Given the description of an element on the screen output the (x, y) to click on. 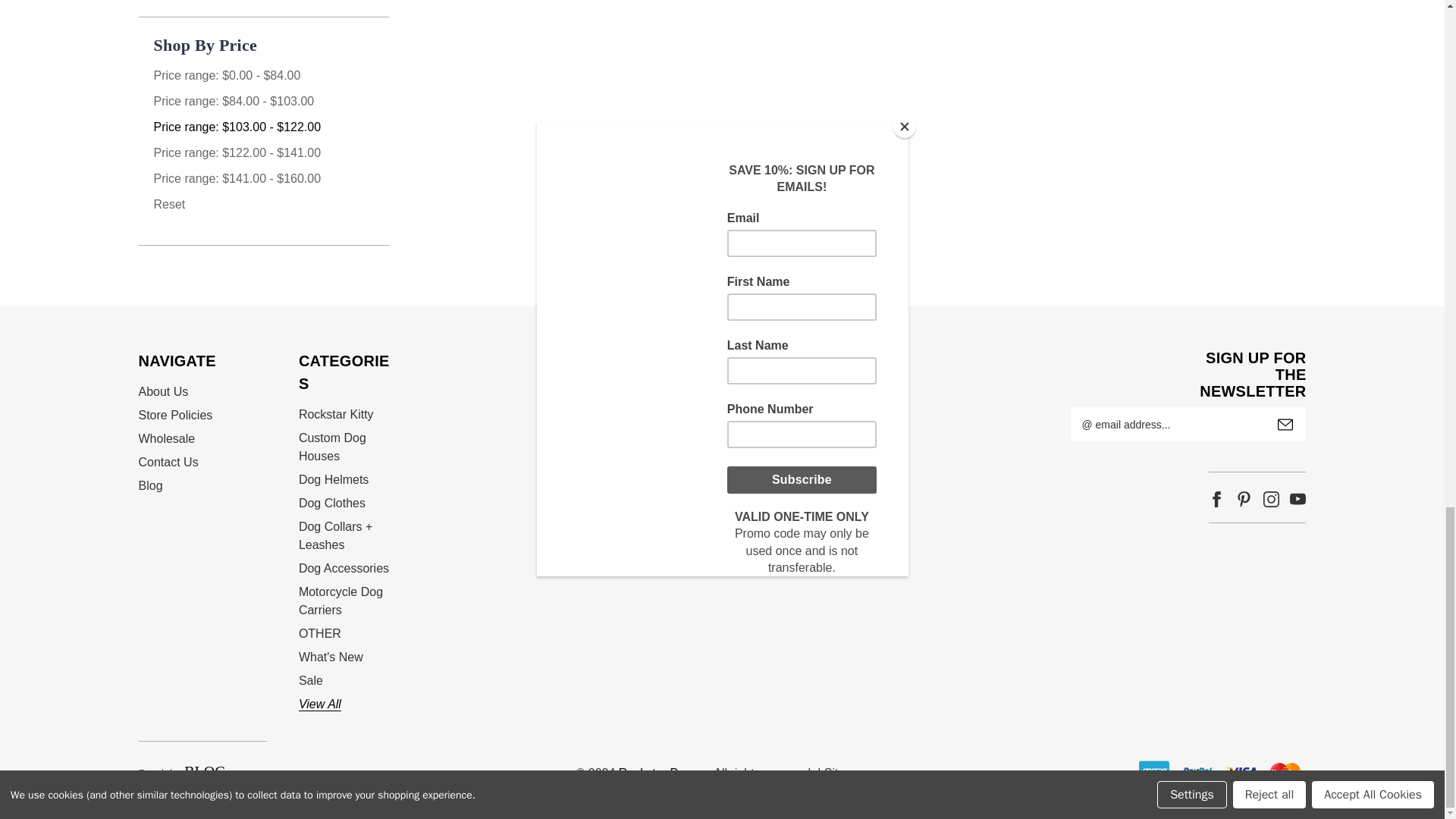
Youtube (1298, 498)
Rockstar Puppy (721, 362)
Instagram (1271, 498)
Facebook (1216, 498)
Pinterest (1244, 498)
